Given the description of an element on the screen output the (x, y) to click on. 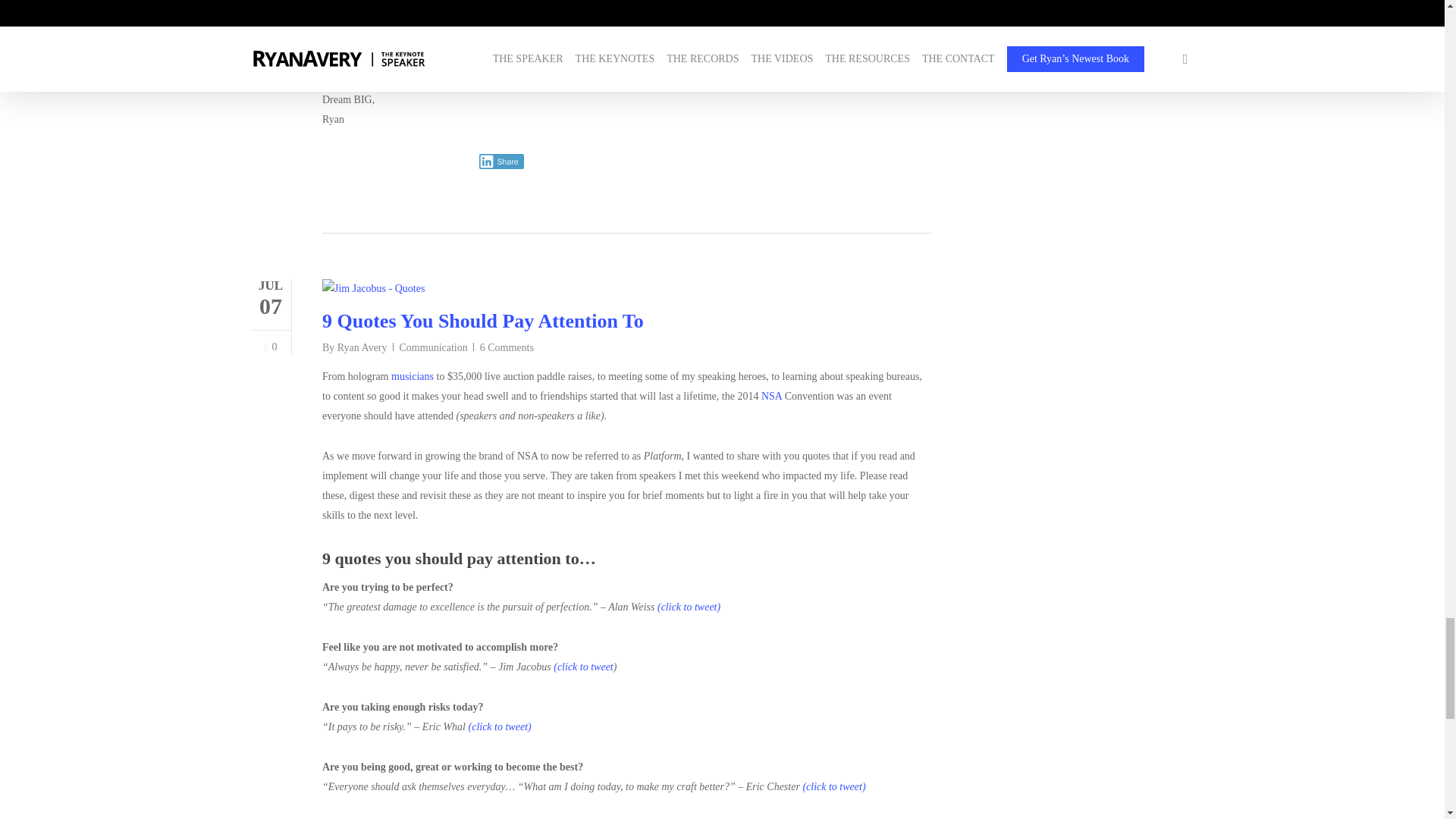
9 Quotes You Should Pay Attention To (482, 321)
0 (269, 347)
Share (501, 160)
Posts by Ryan Avery (362, 347)
Love this (269, 347)
